Given the description of an element on the screen output the (x, y) to click on. 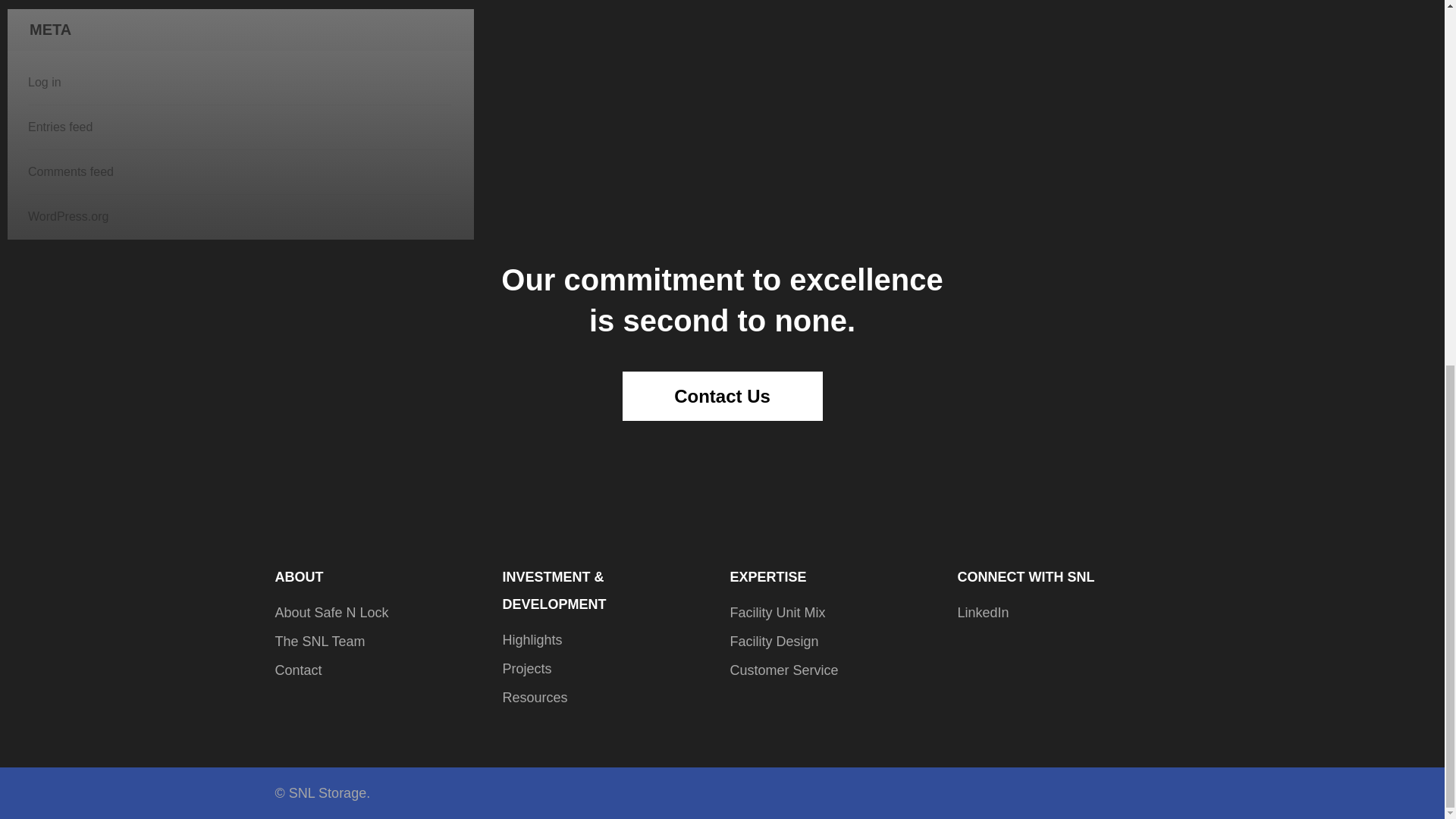
Entries feed (60, 126)
Contact (298, 670)
Highlights (532, 639)
Contact Us (721, 395)
Customer Service (783, 670)
About Safe N Lock (331, 612)
Comments feed (70, 171)
Resources (534, 697)
The SNL Team (320, 641)
Facility Unit Mix (777, 612)
LinkedIn (982, 612)
WordPress.org (67, 215)
Log in (44, 82)
Projects (526, 668)
Facility Design (773, 641)
